Given the description of an element on the screen output the (x, y) to click on. 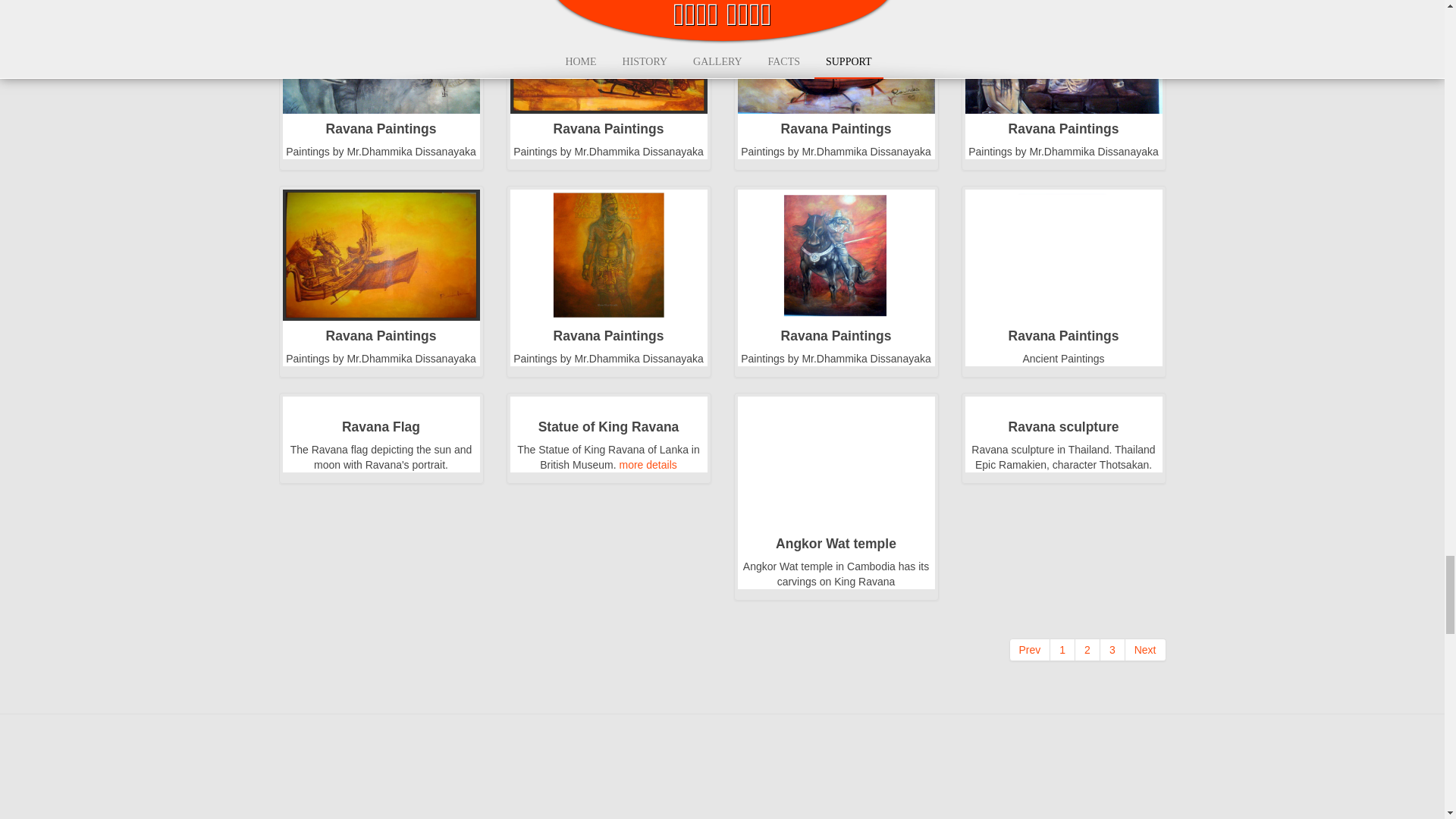
Paintings by Mr.Dhammika Dissanayaka (607, 46)
Paintings by Mr.Dhammika Dissanayaka (835, 46)
Paintings by Mr.Dhammika Dissanayaka (607, 254)
Paintings by Mr.Dhammika Dissanayaka (835, 254)
Paintings by Mr.Dhammika Dissanayaka (1062, 46)
Paintings by Mr.Dhammika Dissanayaka (380, 46)
Paintings by Mr.Dhammika Dissanayaka (380, 254)
Ancient Paintings of King Ravana (1062, 254)
